Given the description of an element on the screen output the (x, y) to click on. 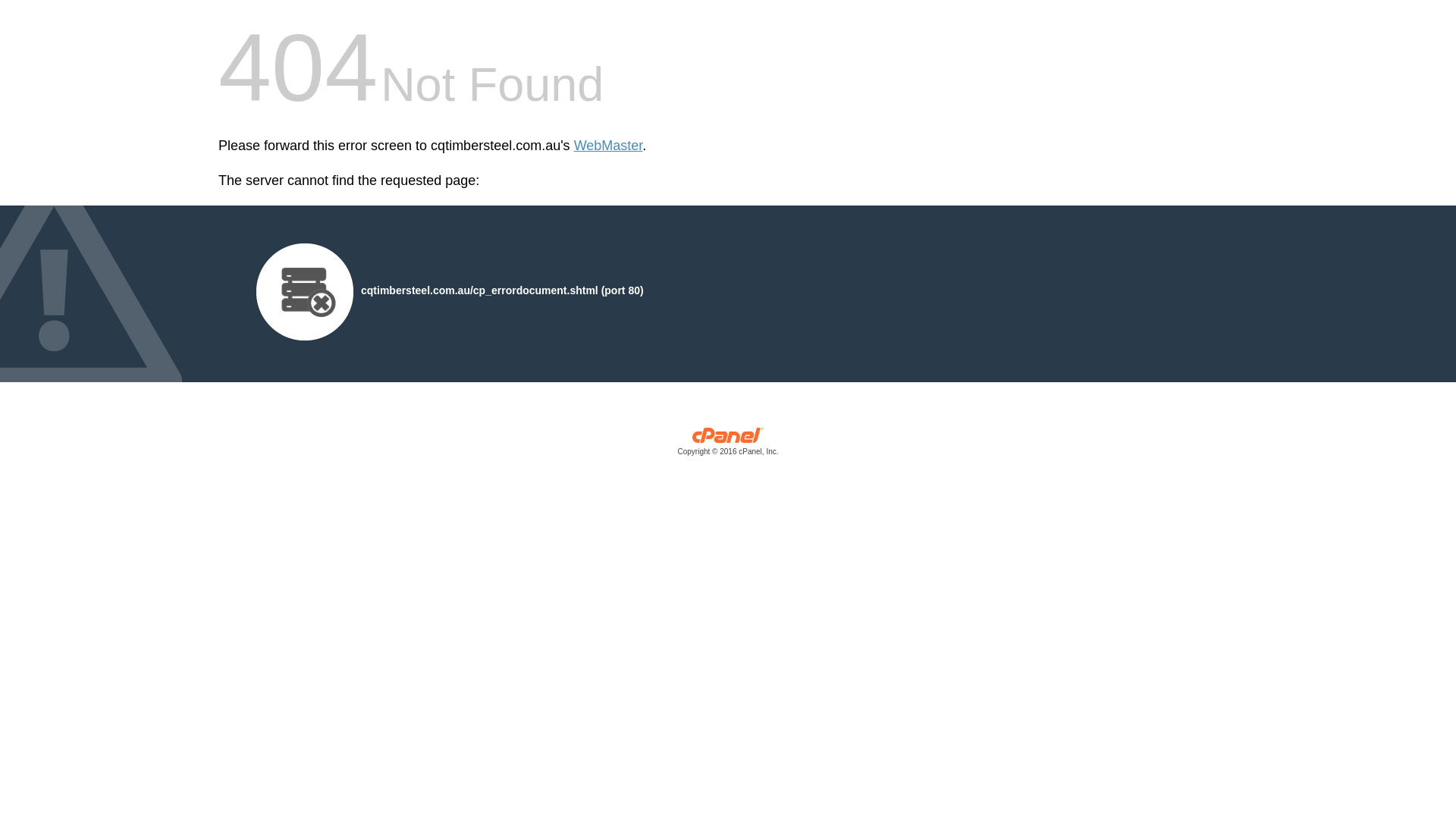
WebMaster Element type: text (608, 145)
